Given the description of an element on the screen output the (x, y) to click on. 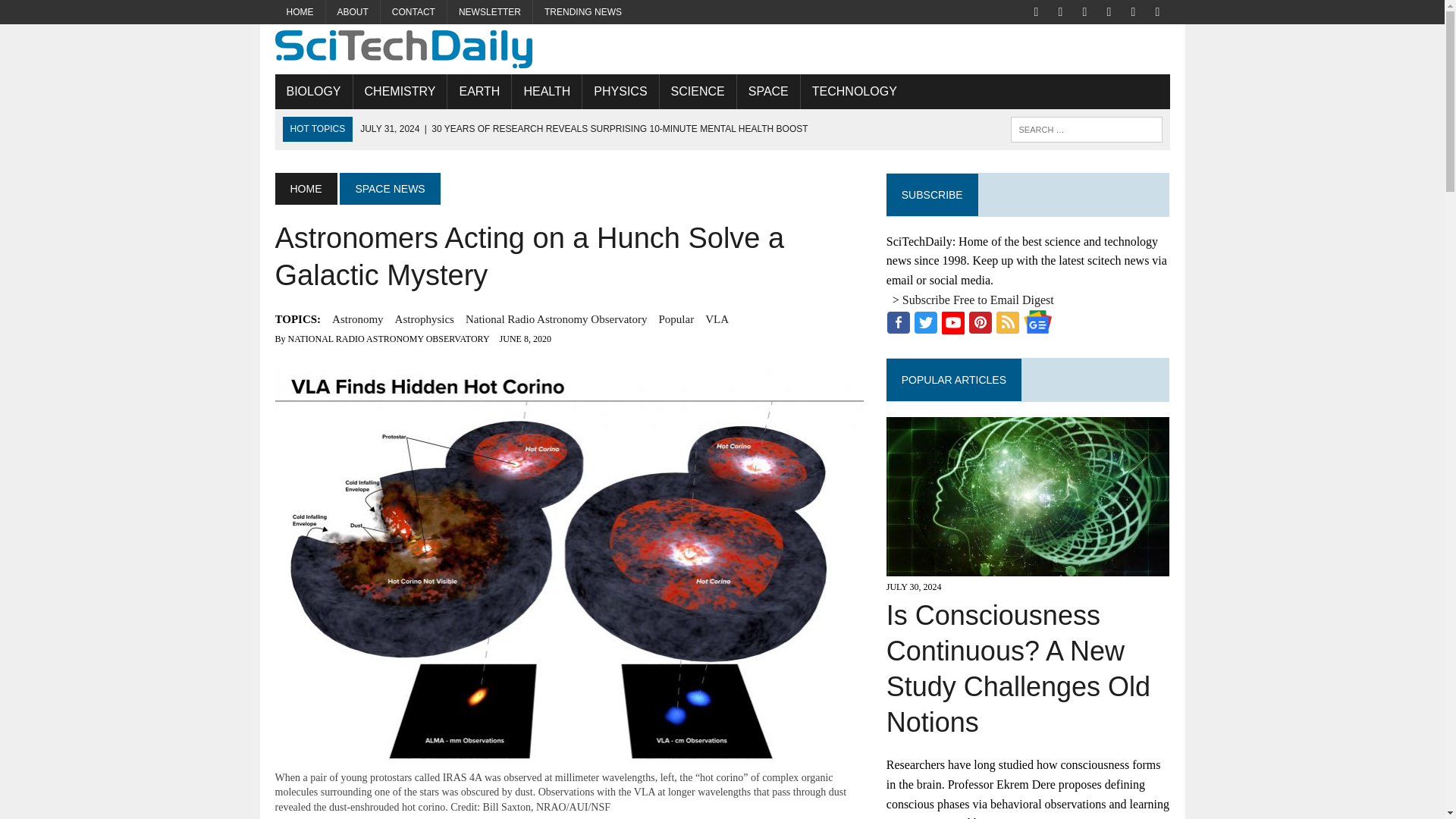
SPACE (767, 91)
SciTechDaily Newsletter (489, 12)
HOME (299, 12)
ABOUT (353, 12)
HEALTH (546, 91)
Contact SciTechDaily.com (413, 12)
TECHNOLOGY (854, 91)
CONTACT (413, 12)
NEWSLETTER (489, 12)
TRENDING NEWS (582, 12)
Astrophysics (424, 319)
SCIENCE (697, 91)
SciTechDaily (722, 48)
HOME (305, 188)
